Given the description of an element on the screen output the (x, y) to click on. 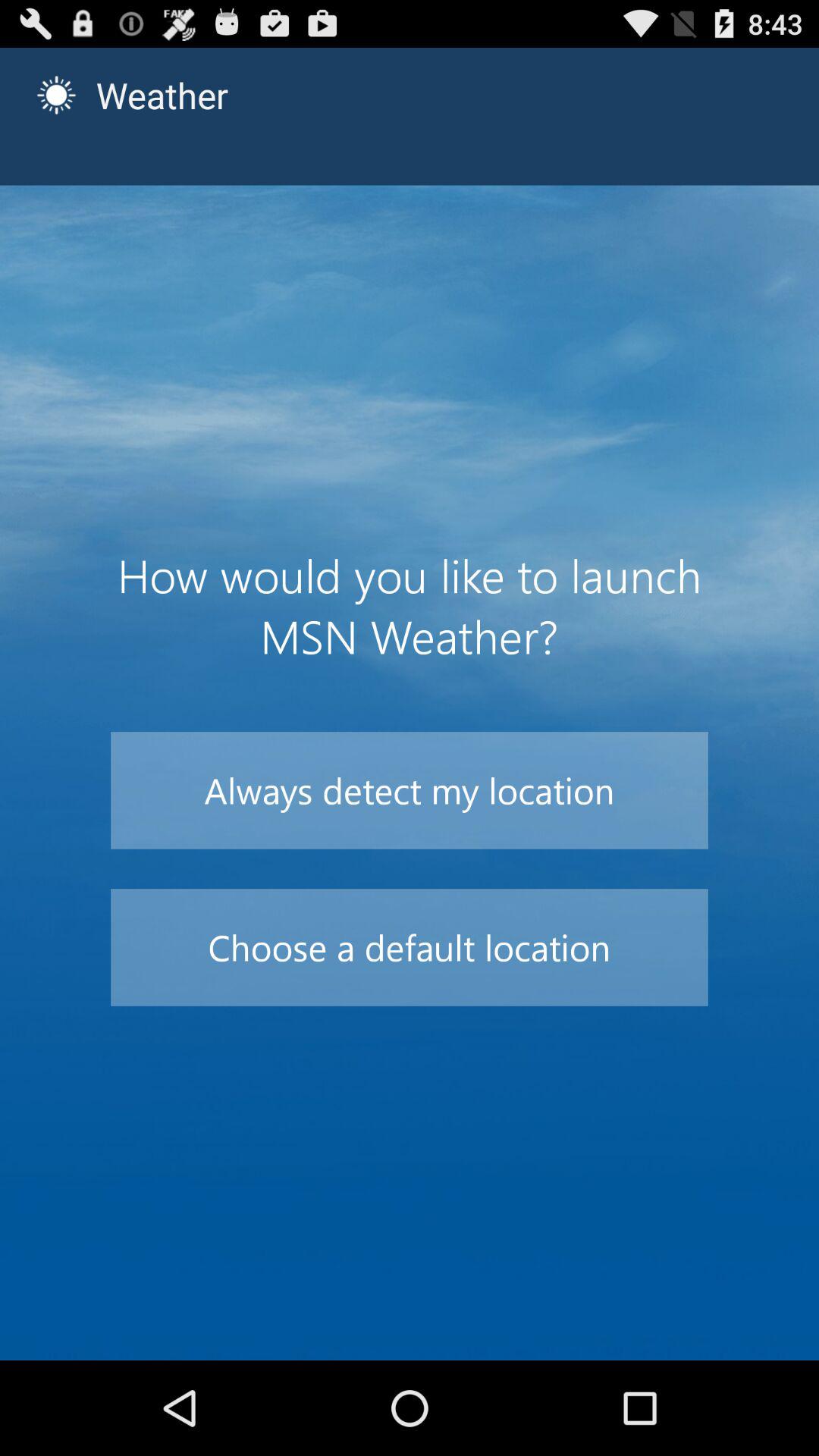
jump until choose a default item (409, 947)
